Given the description of an element on the screen output the (x, y) to click on. 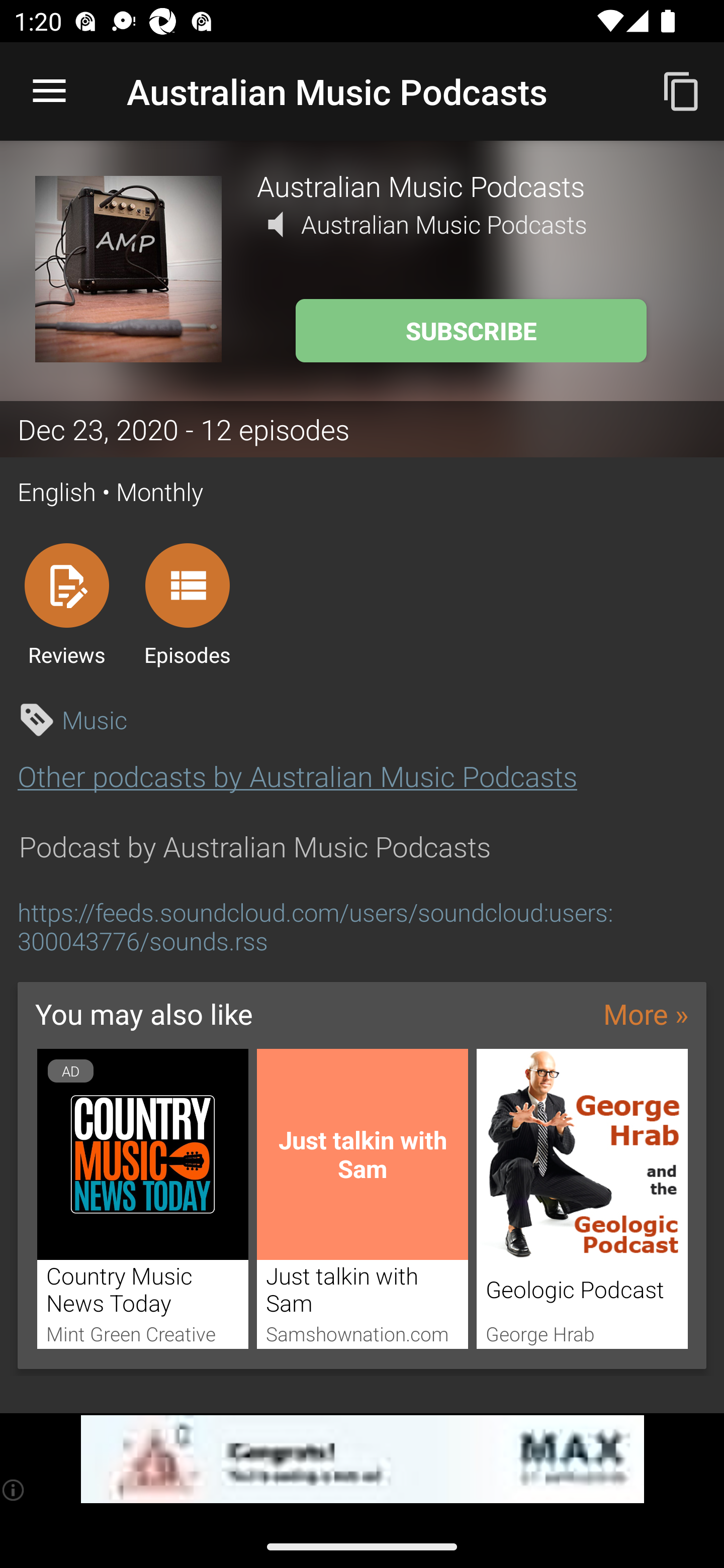
Open navigation sidebar (49, 91)
Copy feed url to clipboard (681, 90)
Australian Music Podcasts (472, 185)
SUBSCRIBE (470, 330)
Reviews (66, 604)
Episodes (187, 604)
Other podcasts by Australian Music Podcasts (297, 775)
More » (645, 1013)
AD Country Music News Today Mint Green Creative (142, 1198)
Geologic Podcast George Hrab (581, 1198)
app-monetization (362, 1459)
(i) (14, 1489)
